Given the description of an element on the screen output the (x, y) to click on. 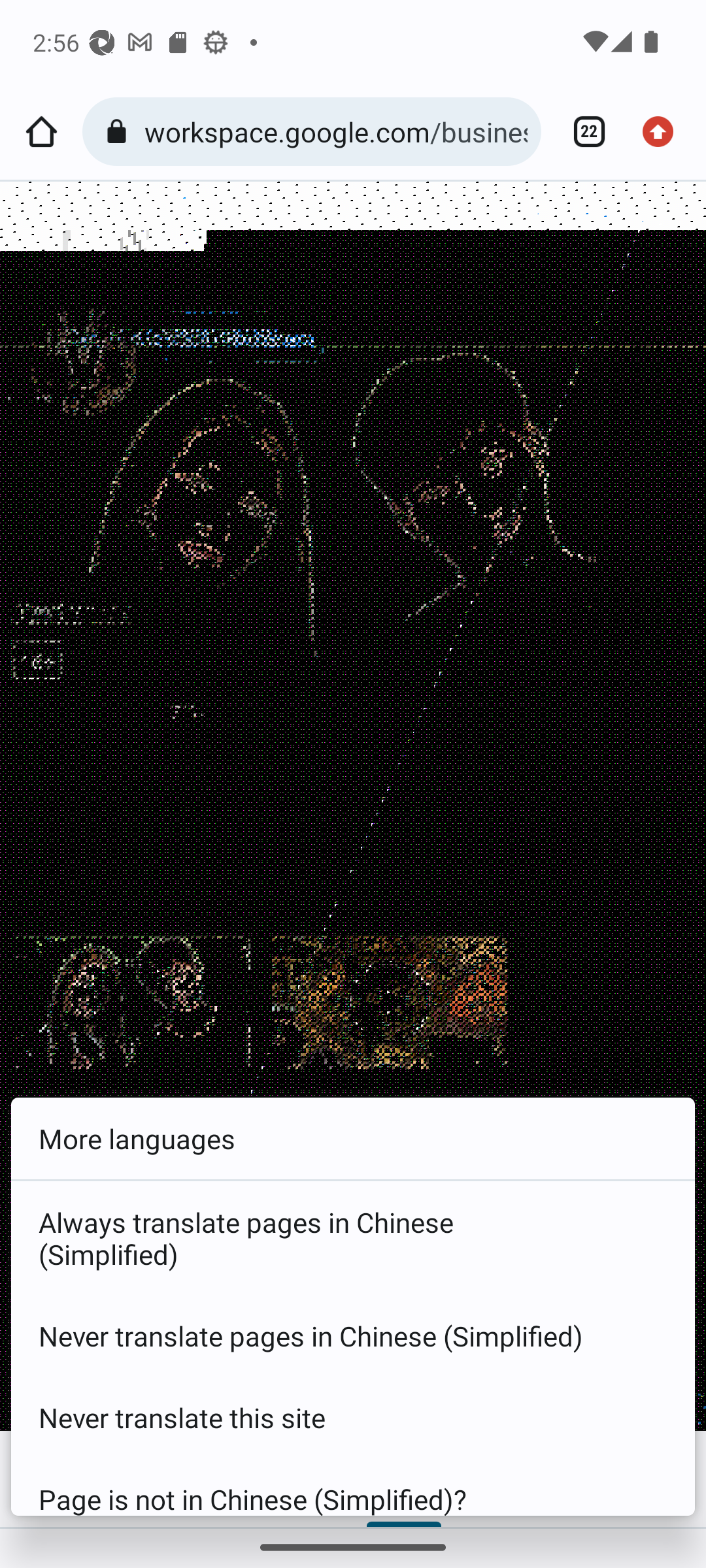
More languages (352, 1138)
Always translate pages in Chinese (Simplified) (352, 1237)
Never translate pages in Chinese (Simplified) (352, 1335)
Never translate this site (352, 1417)
Page is not in Chinese (Simplified)? (352, 1487)
